Given the description of an element on the screen output the (x, y) to click on. 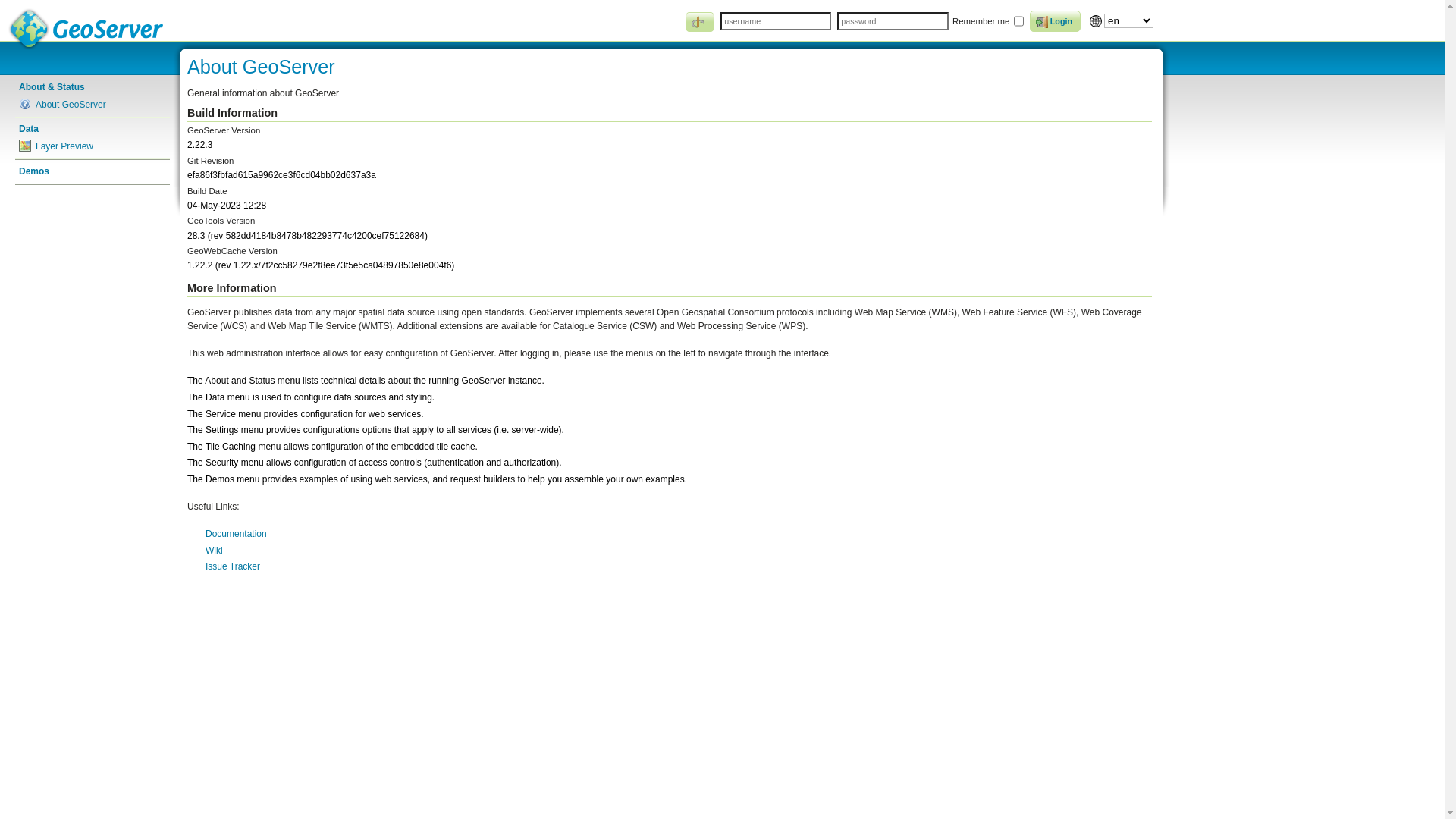
Issue Tracker Element type: text (232, 566)
username Element type: hover (775, 21)
password Element type: hover (892, 21)
Documentation Element type: text (235, 533)
Login Element type: text (1055, 20)
Wiki Element type: text (213, 550)
Demos Element type: text (92, 171)
Layer Preview Element type: text (92, 146)
About GeoServer Element type: text (92, 104)
